Given the description of an element on the screen output the (x, y) to click on. 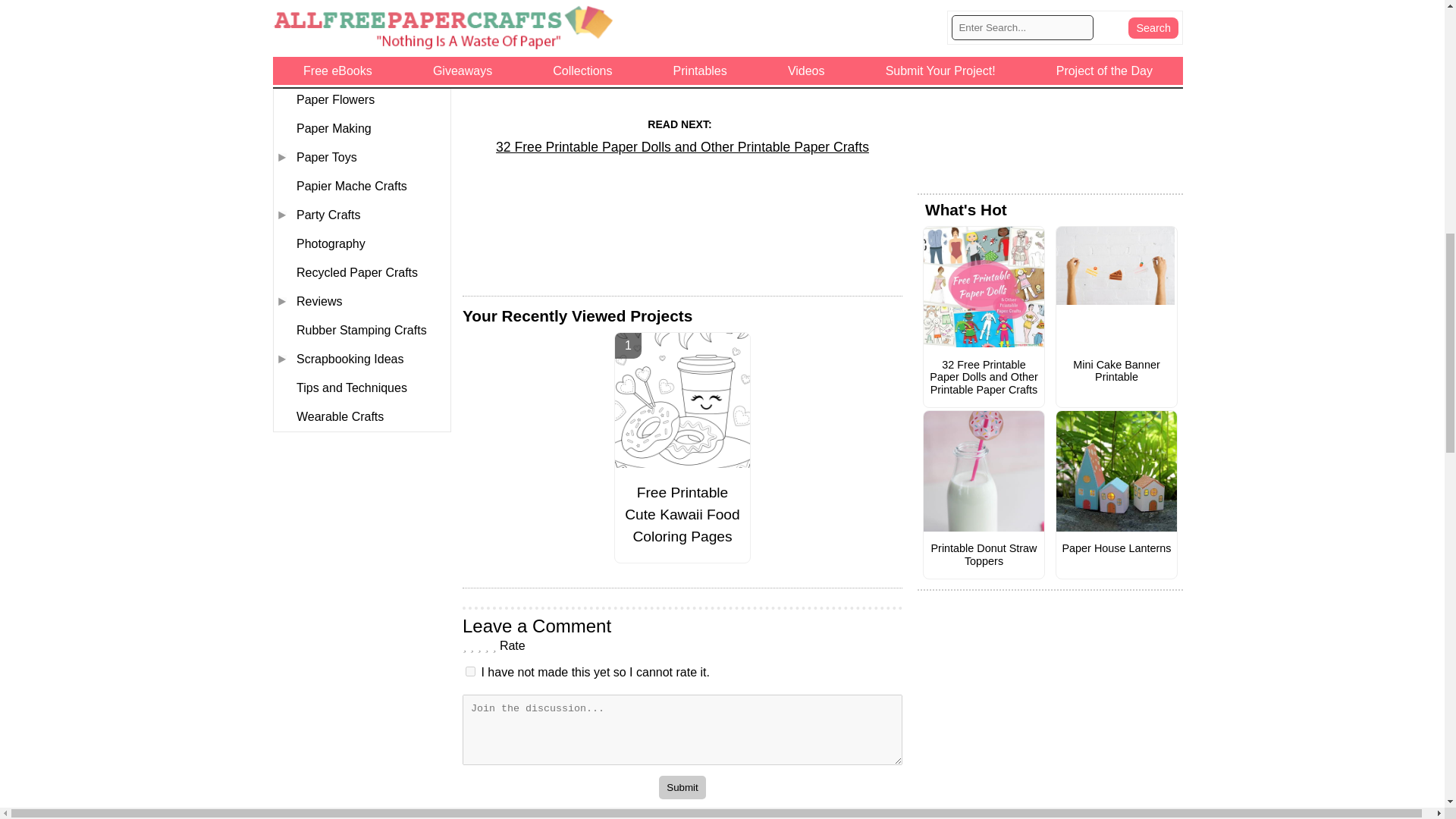
1 (470, 671)
Submit (681, 787)
